Given the description of an element on the screen output the (x, y) to click on. 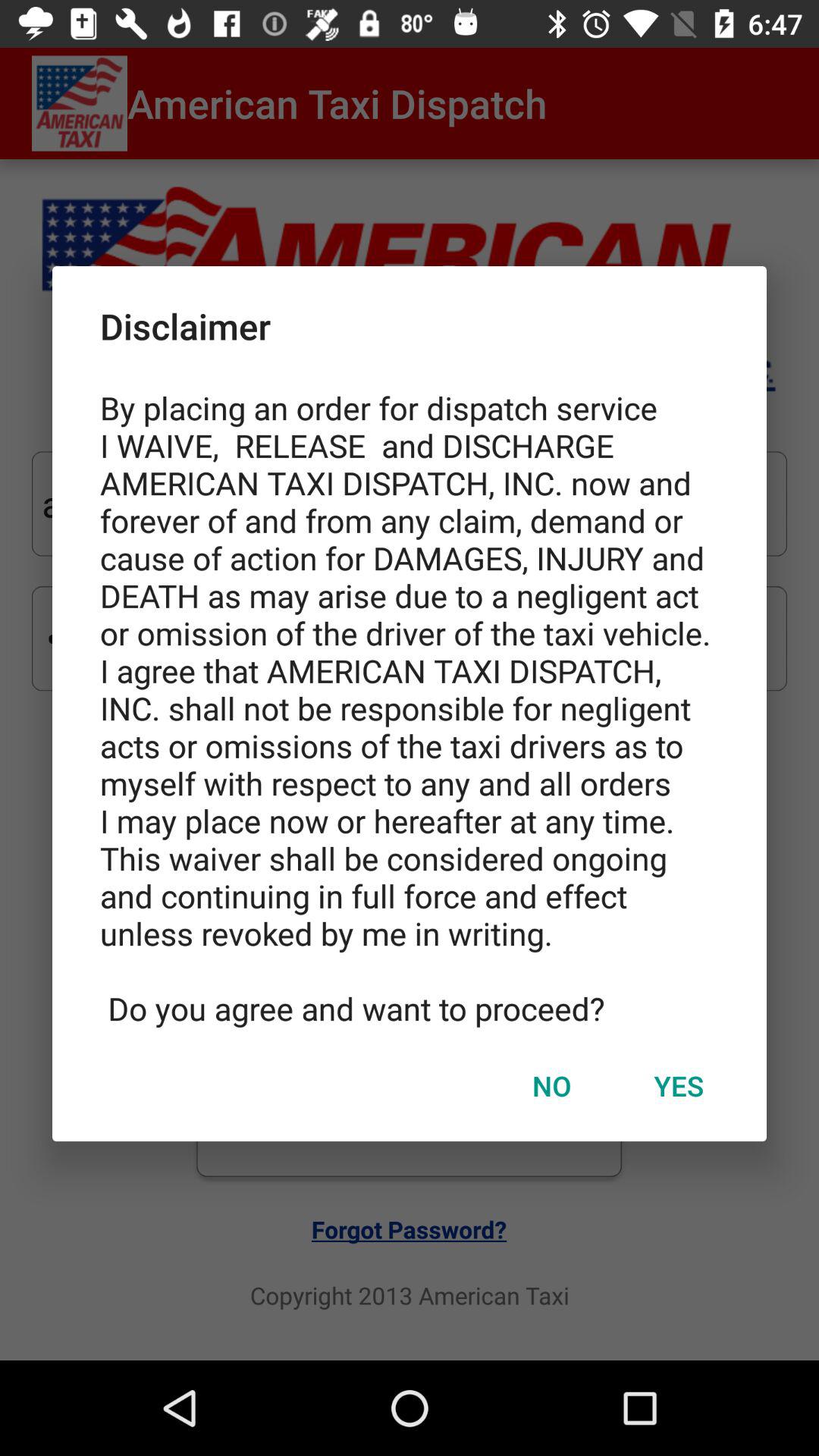
jump until no item (551, 1085)
